Given the description of an element on the screen output the (x, y) to click on. 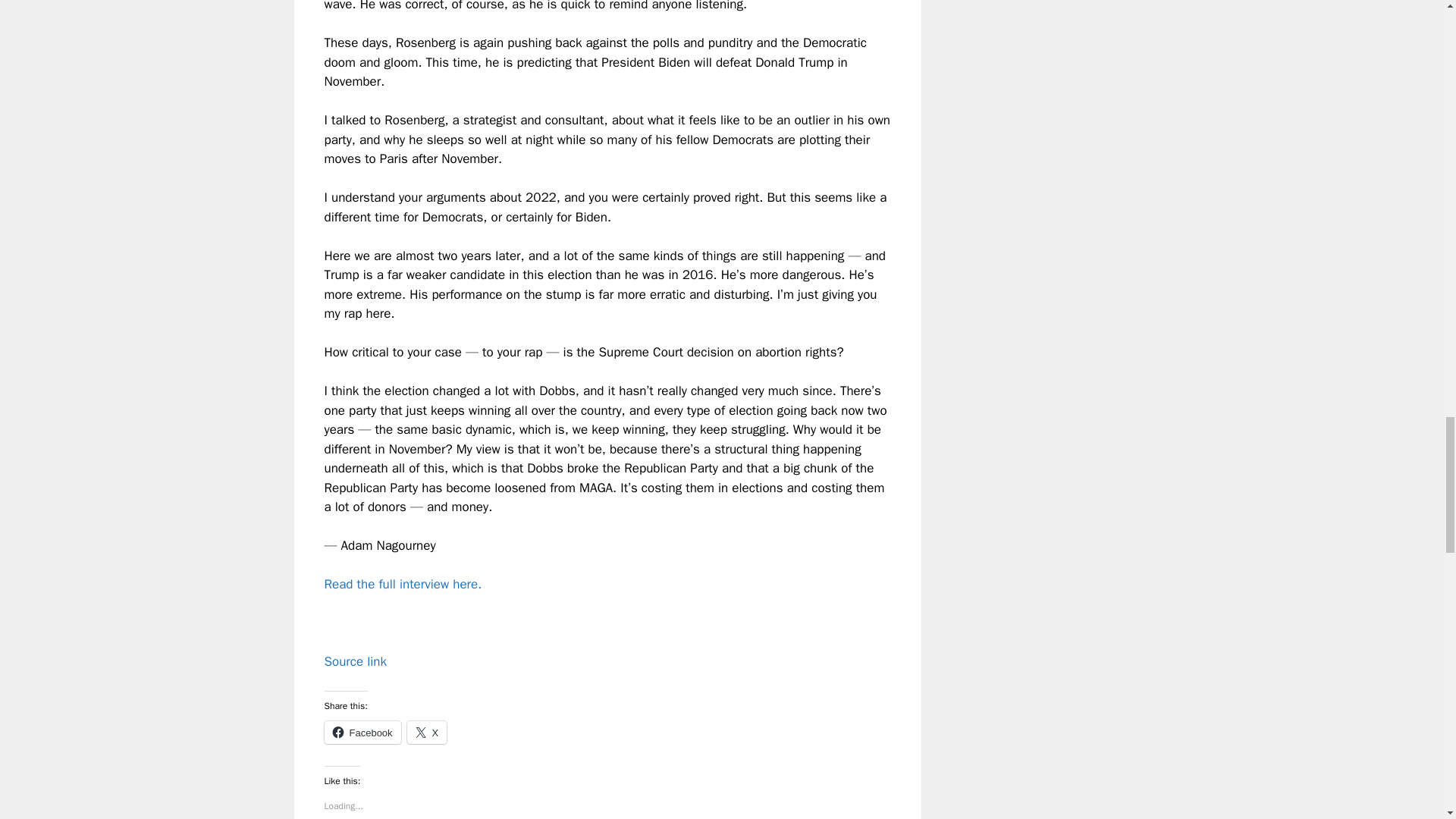
X (426, 732)
Source link (355, 661)
Read the full interview here. (402, 584)
Click to share on Facebook (362, 732)
Facebook (362, 732)
